Given the description of an element on the screen output the (x, y) to click on. 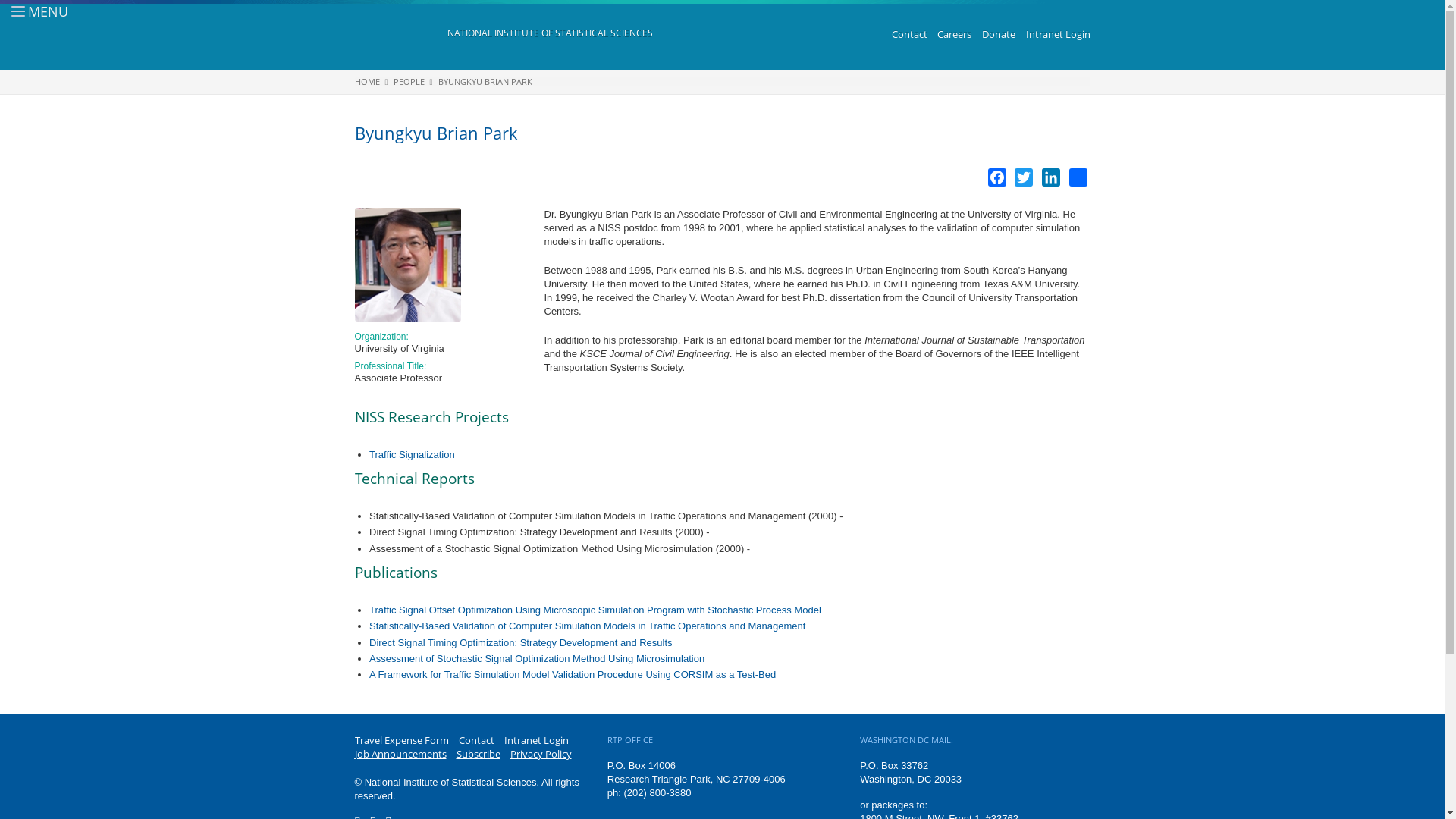
National Institute of Statistical Sciences Home (400, 34)
Home (549, 33)
MENU (30, 11)
